Given the description of an element on the screen output the (x, y) to click on. 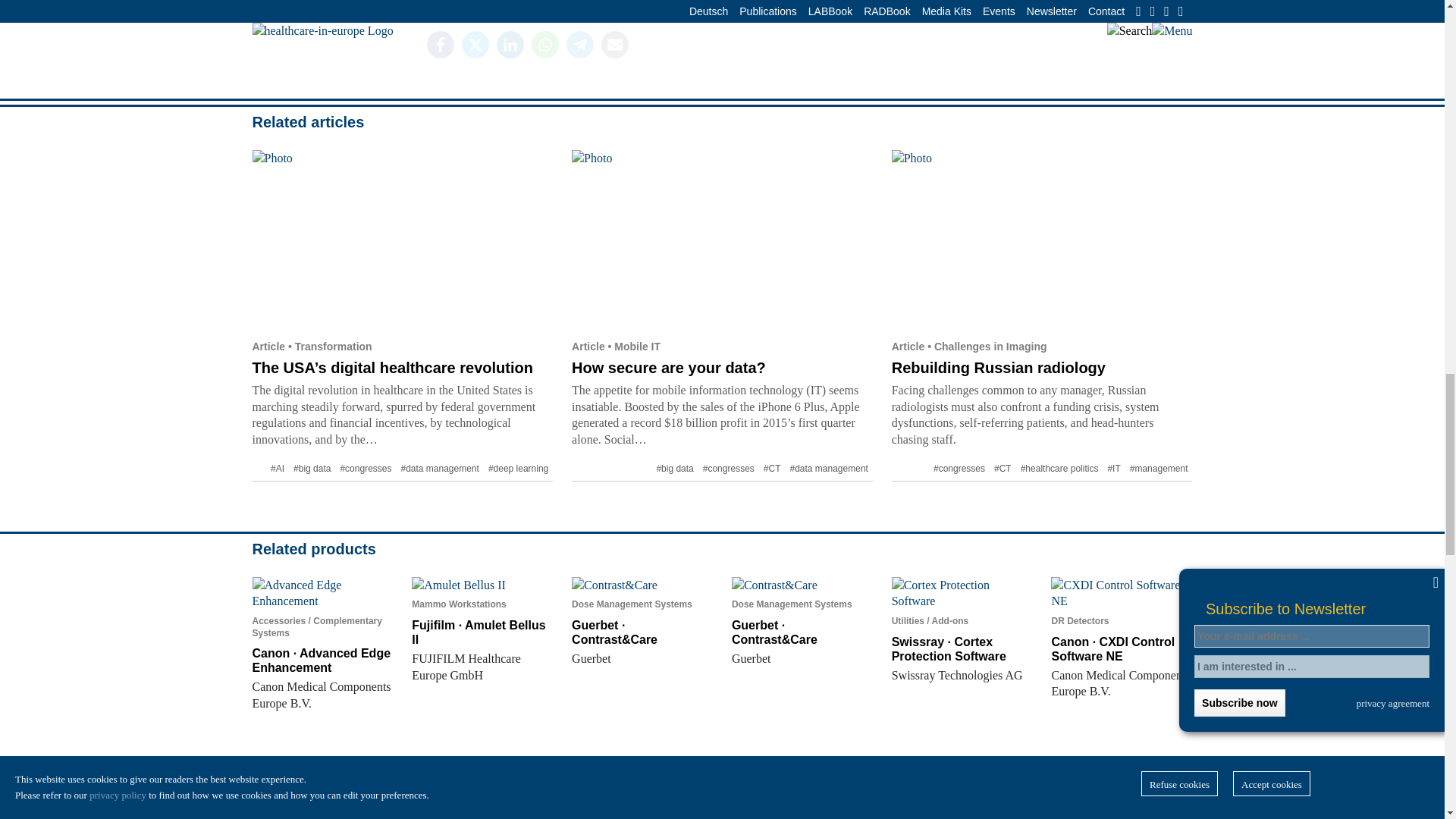
Rebuilding Russian radiology (998, 367)
How secure are your data? (722, 239)
Share on Linked-in (509, 44)
How secure are your data? (668, 367)
Share on twitter (474, 44)
Share on WhatsApp (544, 44)
Share on Telegram (579, 44)
Share via e-mail (613, 44)
Read all latest stories (875, 2)
Rebuilding Russian radiology (1041, 239)
Share on facebook (439, 44)
